Given the description of an element on the screen output the (x, y) to click on. 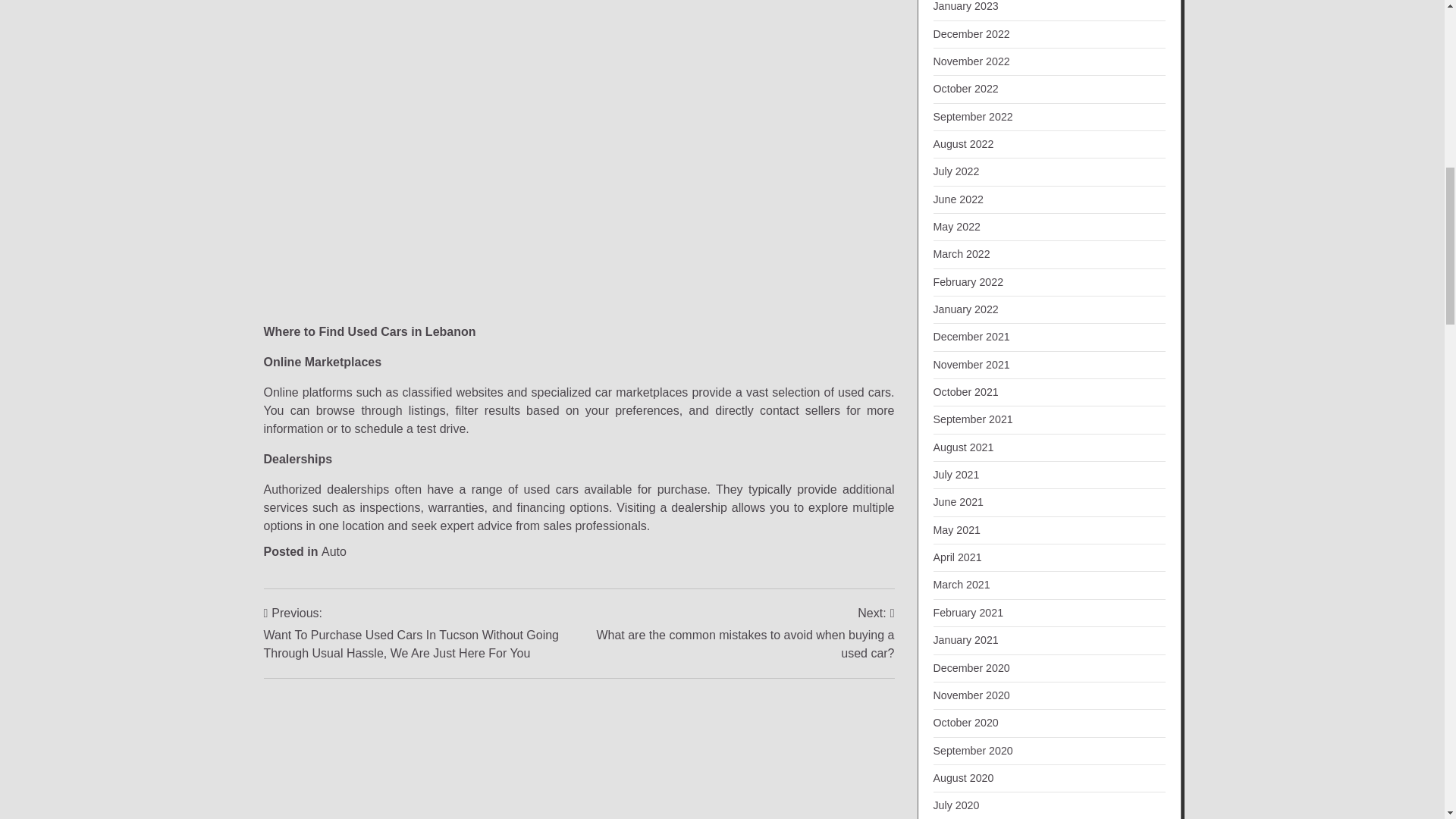
March 2022 (961, 254)
December 2022 (971, 33)
August 2022 (962, 143)
October 2022 (965, 88)
July 2022 (955, 171)
November 2022 (971, 61)
May 2022 (956, 226)
June 2022 (958, 199)
January 2023 (965, 6)
Auto (333, 551)
September 2022 (972, 116)
